Given the description of an element on the screen output the (x, y) to click on. 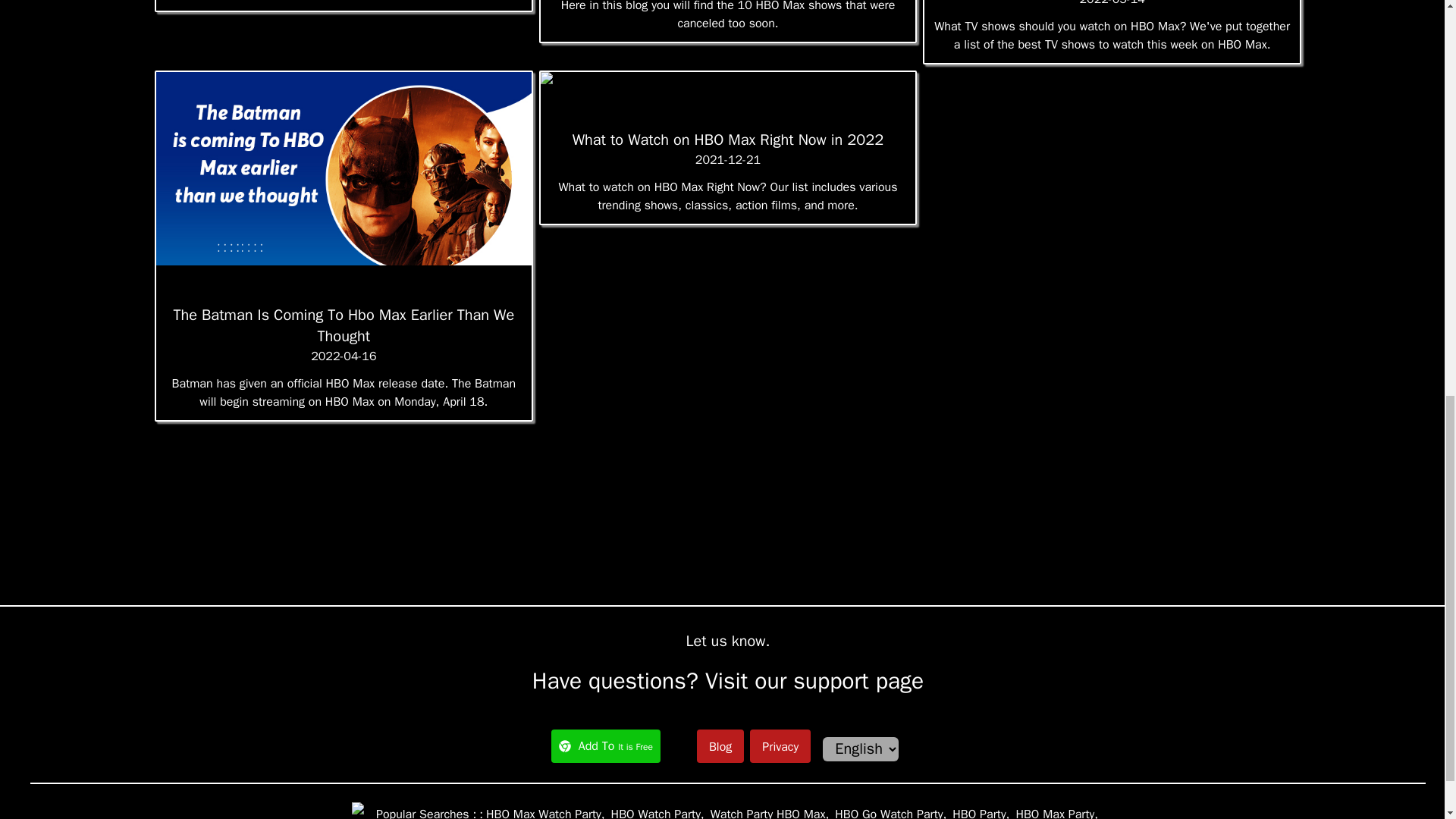
Add To It is Free (606, 745)
Blog (720, 745)
Blog (720, 745)
Privacy (779, 745)
Privacy (780, 745)
